Given the description of an element on the screen output the (x, y) to click on. 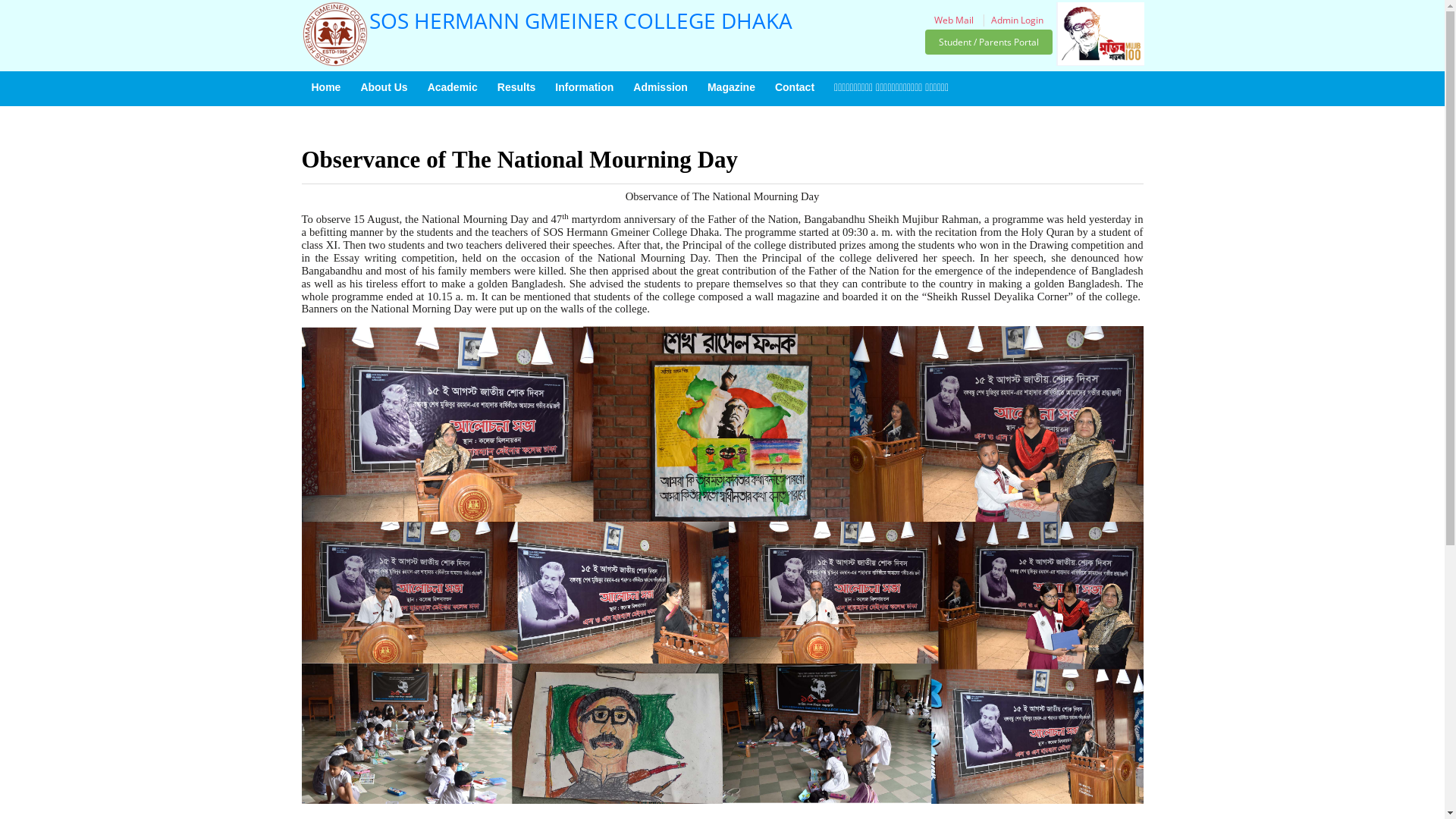
Information Element type: text (584, 87)
Academic Element type: text (452, 87)
Web Mail Element type: text (953, 19)
Student / Parents Portal Element type: text (988, 41)
About Us Element type: text (383, 87)
Contact Element type: text (794, 87)
Magazine Element type: text (731, 87)
Admission Element type: text (660, 87)
Results Element type: text (516, 87)
Home Element type: text (325, 87)
Admin Login Element type: text (1017, 19)
